Given the description of an element on the screen output the (x, y) to click on. 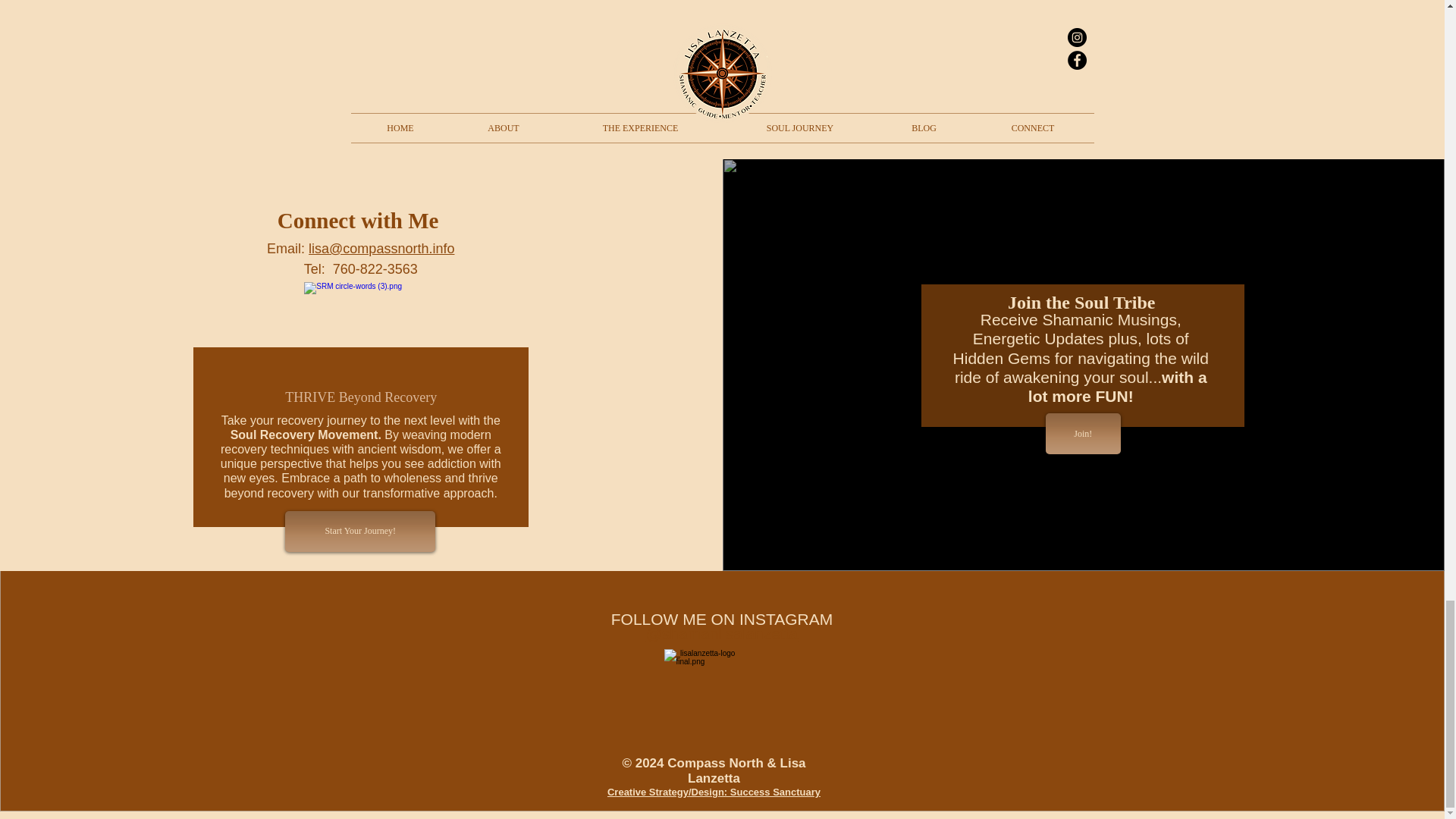
Start Your Journey! (360, 531)
Transform Your Week with Sacred Rituals (476, 63)
Join! (1083, 433)
Prayer Flags-A Delightful Ceremony for the Air Element (721, 63)
Ayni Despacho Ceremony (967, 55)
